Given the description of an element on the screen output the (x, y) to click on. 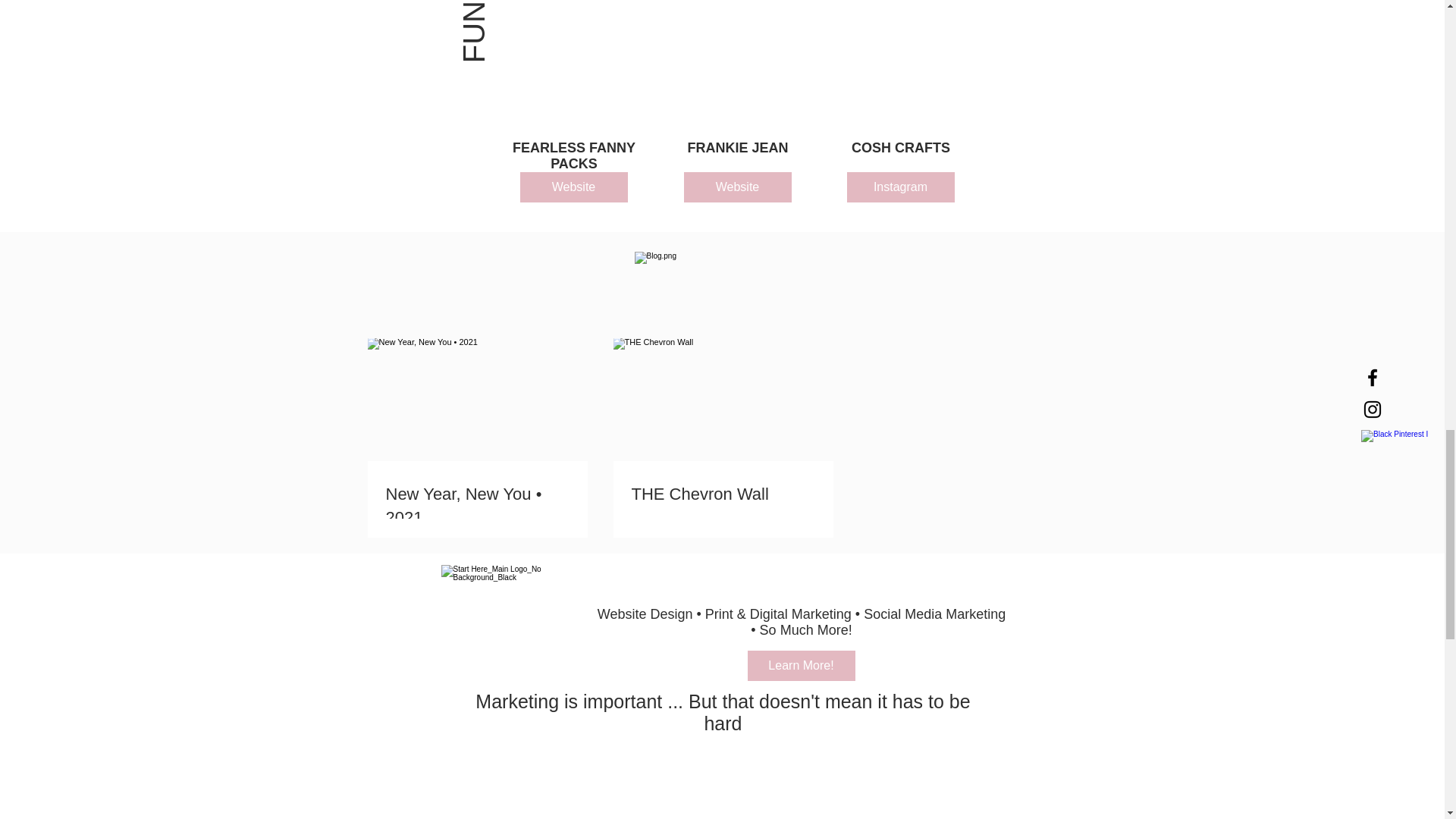
Website (738, 186)
Instagram (899, 186)
THE Chevron Wall (721, 494)
Learn More! (802, 665)
Website (573, 186)
